Given the description of an element on the screen output the (x, y) to click on. 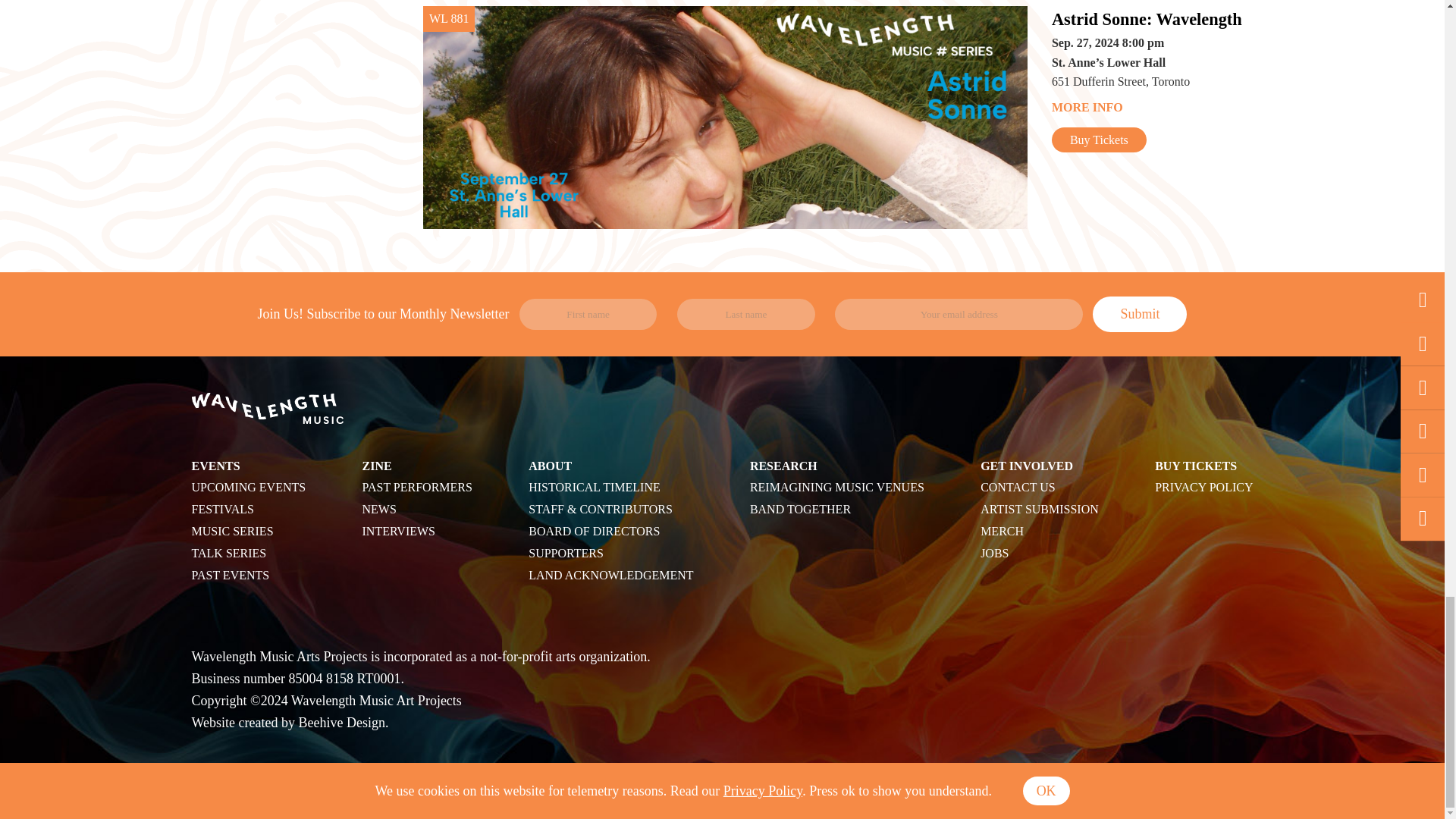
View Astrid Sonne: Wavelength (1152, 107)
View Astrid Sonne: Wavelength (1152, 19)
